Given the description of an element on the screen output the (x, y) to click on. 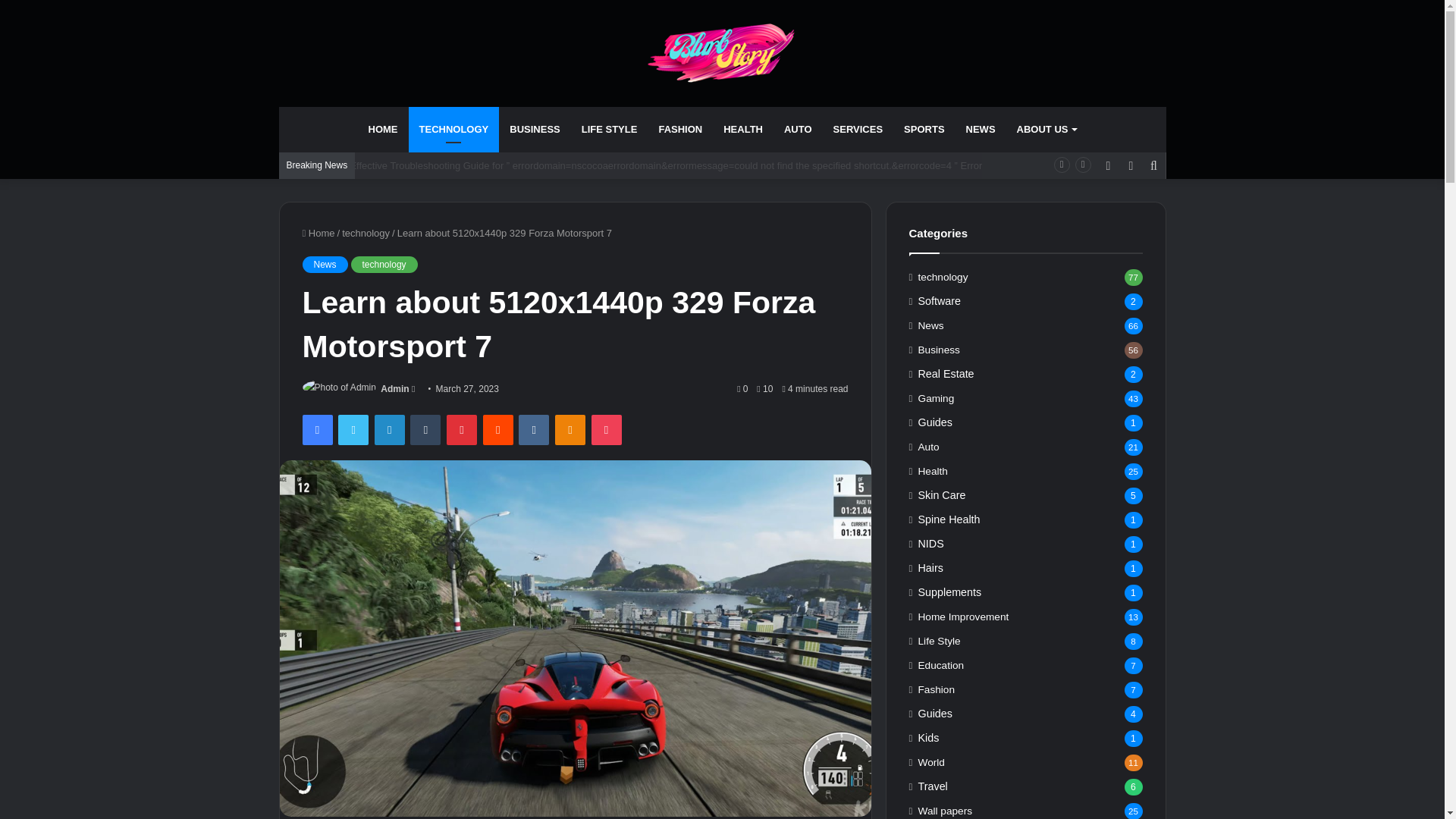
LIFE STYLE (608, 129)
Twitter (352, 429)
Twitter (352, 429)
Tumblr (425, 429)
HOME (383, 129)
FASHION (680, 129)
News (324, 264)
Reddit (498, 429)
NEWS (980, 129)
SERVICES (857, 129)
